Given the description of an element on the screen output the (x, y) to click on. 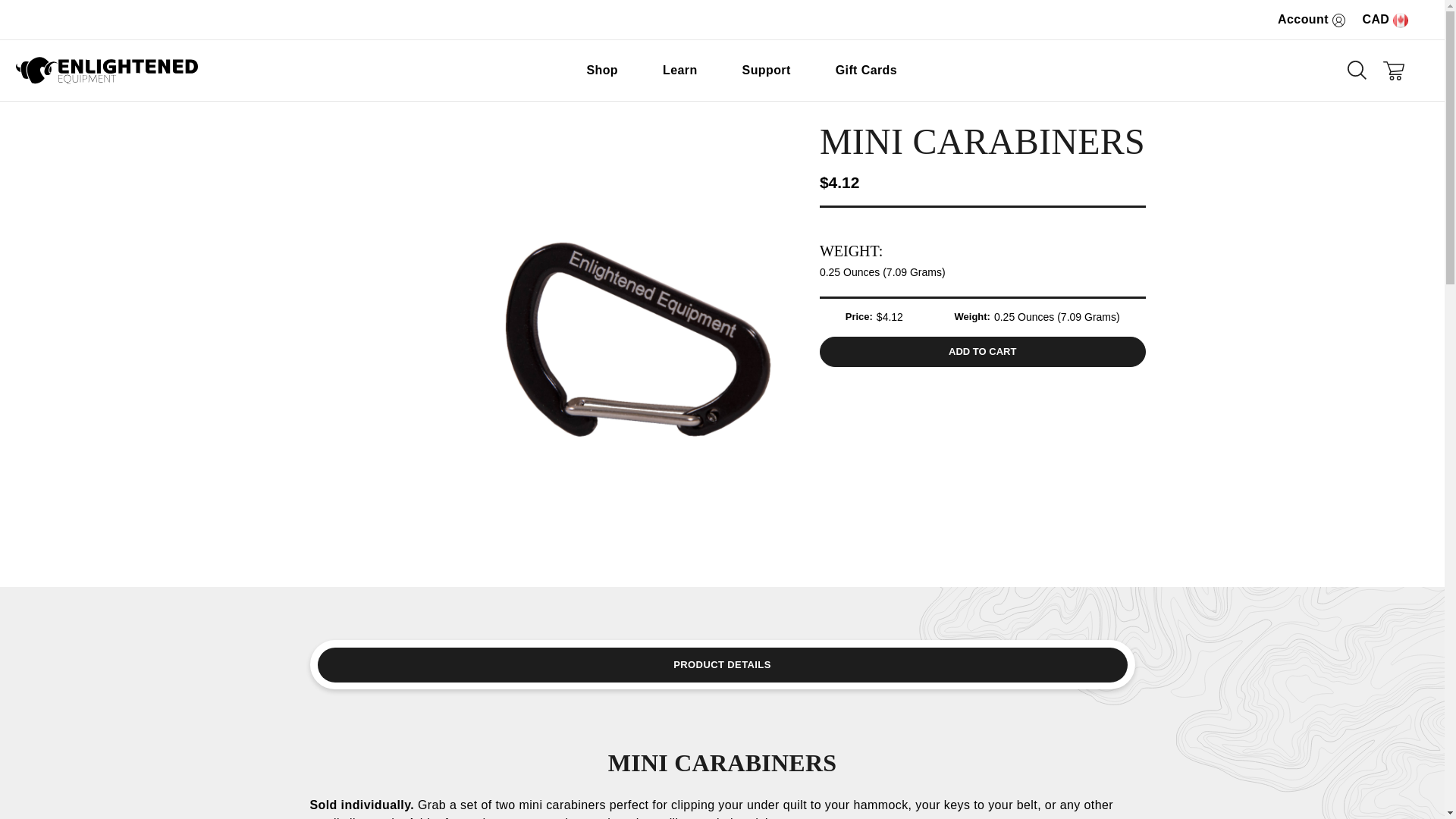
Shop (608, 70)
Gift Cards (866, 70)
Enlightened Equipment (107, 70)
Add to Cart (982, 351)
Support (773, 70)
Learn (686, 70)
Account (1311, 19)
CAD (1391, 19)
